Given the description of an element on the screen output the (x, y) to click on. 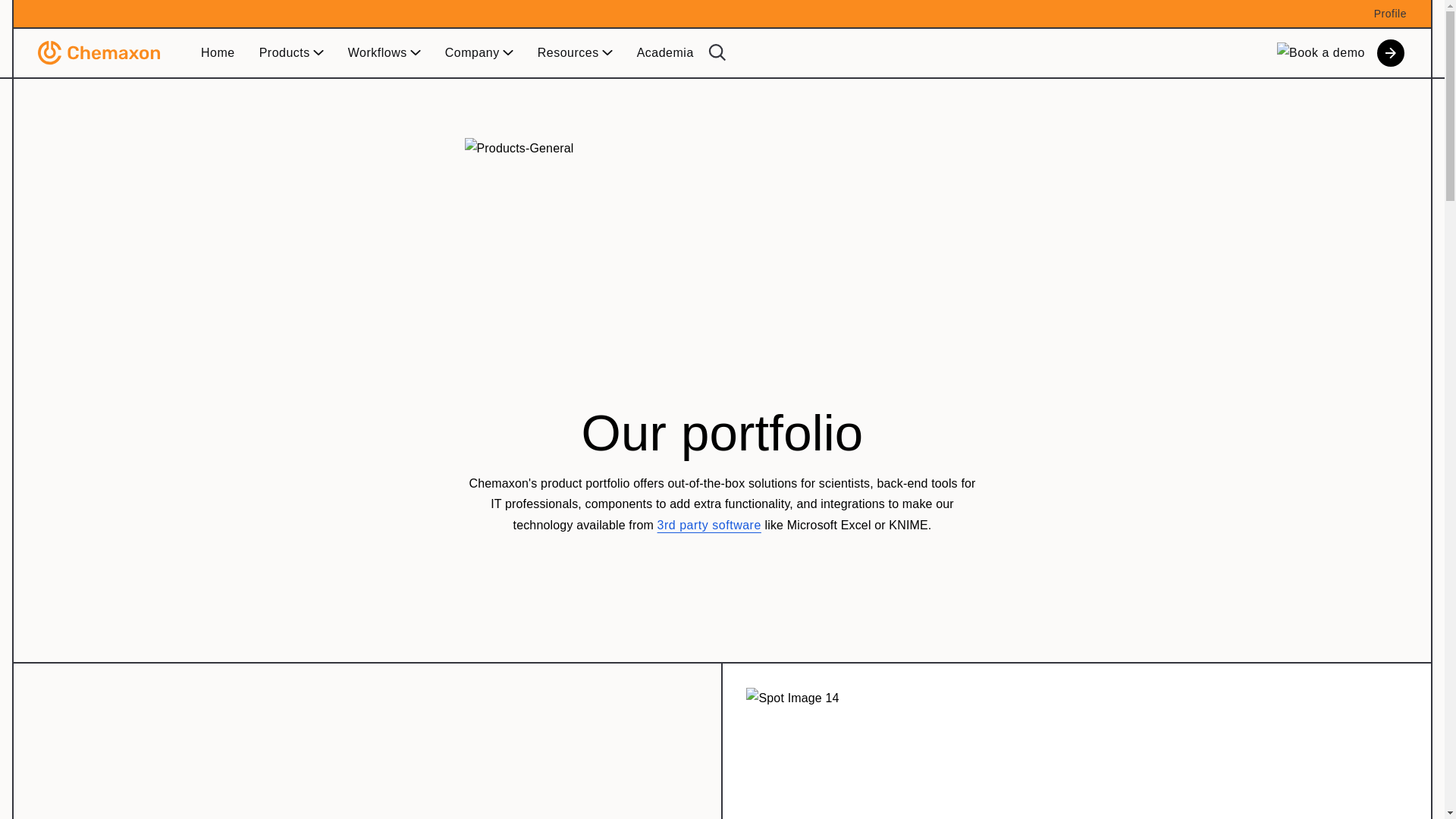
Resources (574, 52)
Workflows (384, 52)
Company (478, 52)
Academia (665, 52)
Products (291, 52)
Home (218, 52)
Profile (1390, 13)
3rd party software (709, 524)
